Given the description of an element on the screen output the (x, y) to click on. 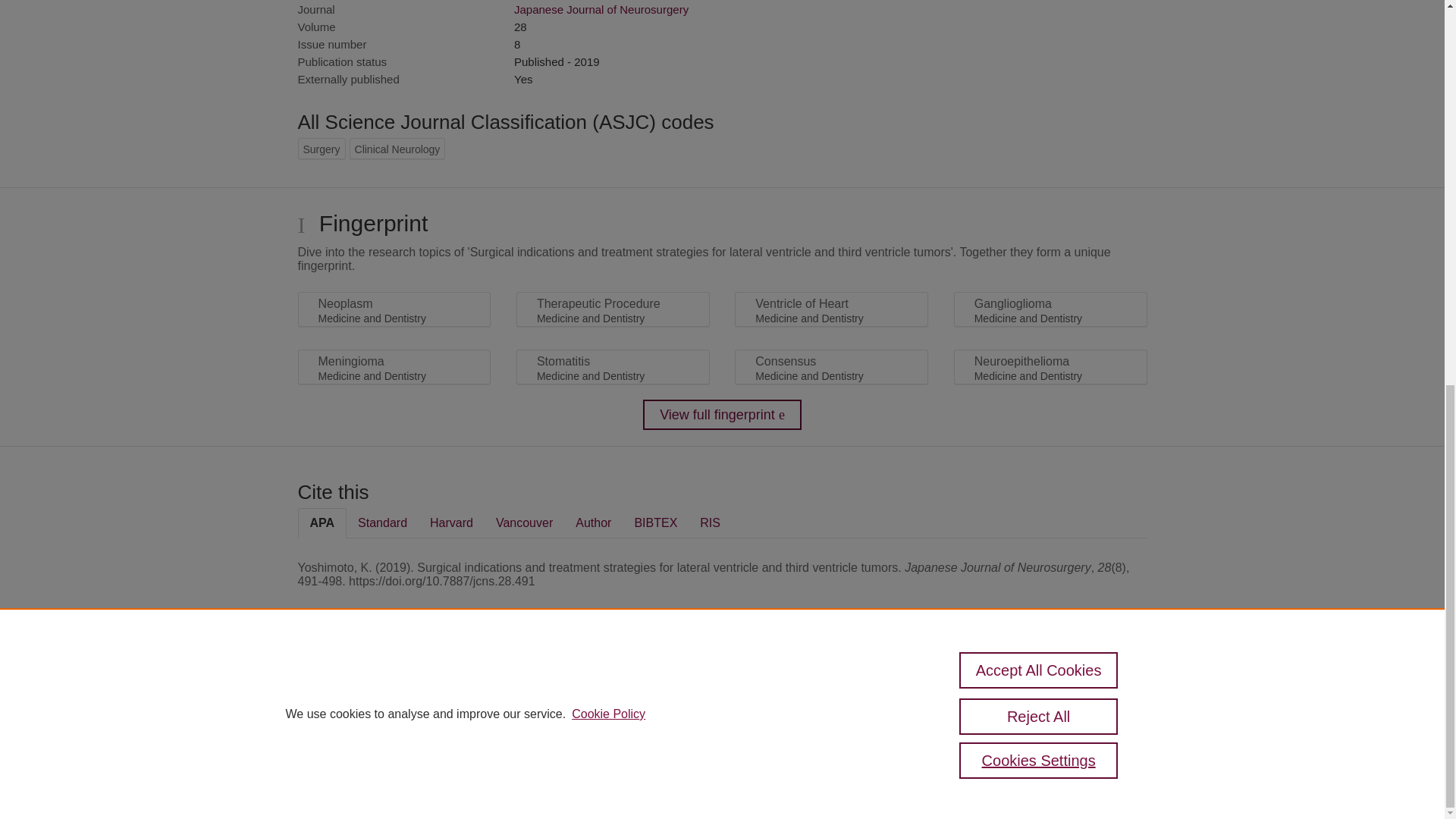
Scopus (394, 686)
Japanese Journal of Neurosurgery (600, 9)
View full fingerprint (722, 414)
Elsevier B.V. (506, 707)
Pure (362, 686)
